Given the description of an element on the screen output the (x, y) to click on. 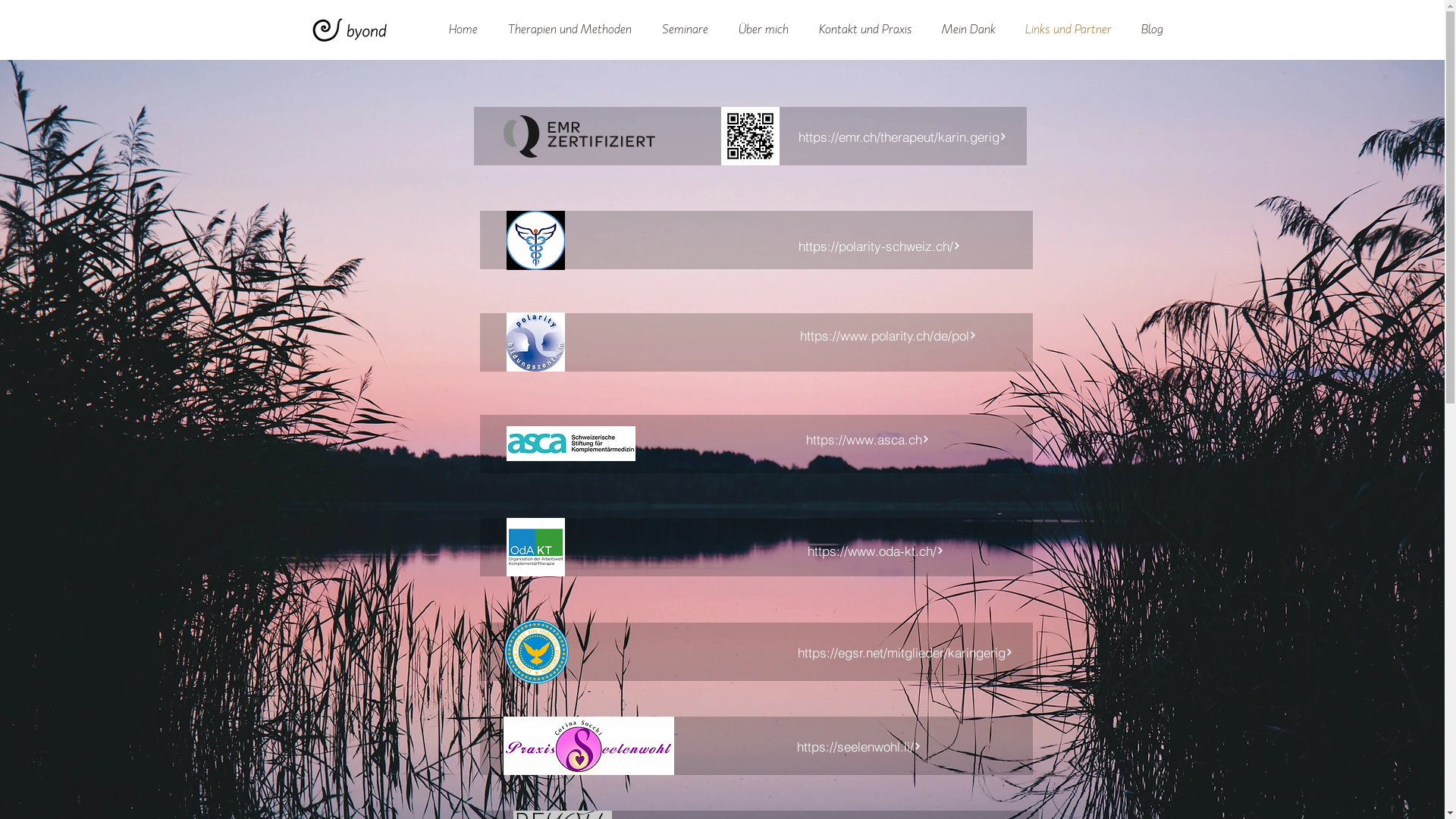
Seminare Element type: text (684, 29)
ESSR-Logo.png Element type: hover (536, 651)
https://www.polarity.ch/de/pol Element type: text (887, 335)
Blog Element type: text (1150, 29)
D_logoTexte.jpg Element type: hover (570, 443)
odaKT.jpg Element type: hover (535, 546)
Therapien und Methoden Element type: text (569, 29)
Polarity-bildrungszentrum.jpg Element type: hover (535, 341)
qr-code.png Element type: hover (749, 135)
https://egsr.net/mitglieder/karingerig Element type: text (904, 652)
https://www.oda-kt.ch/ Element type: text (875, 550)
https://polarity-schweiz.ch/ Element type: text (878, 245)
Links und Partner Element type: text (1068, 29)
Corina socchi.png Element type: hover (588, 745)
Home Element type: text (462, 29)
Mein Dank Element type: text (968, 29)
https://www.asca.ch Element type: text (868, 438)
Polarityverband.png Element type: hover (535, 239)
Kontakt und Praxis Element type: text (864, 29)
https://seelenwohl.li/ Element type: text (858, 746)
https://emr.ch/therapeut/karin.gerig Element type: text (901, 136)
